Given the description of an element on the screen output the (x, y) to click on. 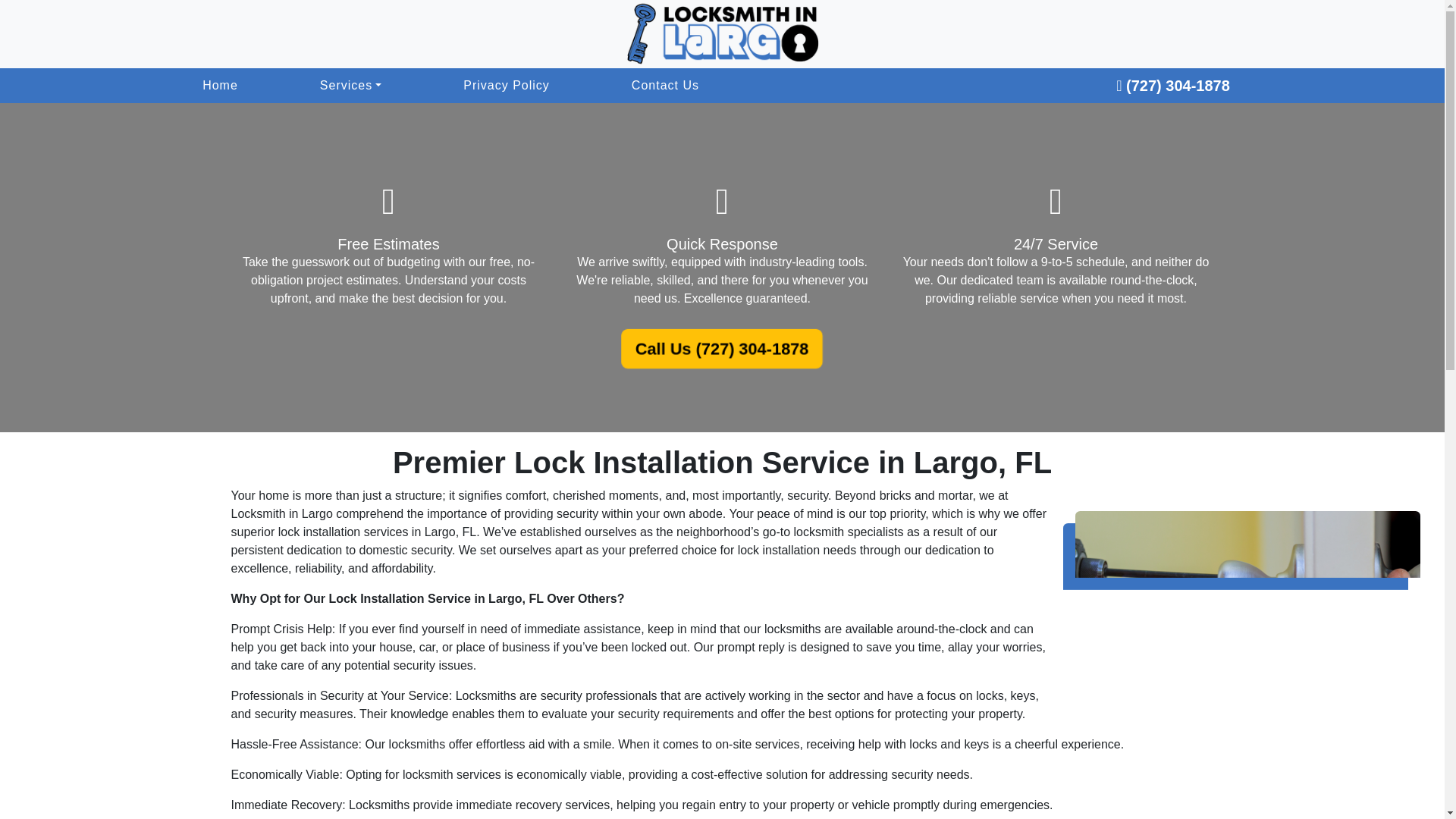
Home (220, 85)
Contact Us (664, 85)
door experts premier lock installation service in largo, fl (1247, 607)
Privacy Policy (506, 85)
Services (350, 85)
